Given the description of an element on the screen output the (x, y) to click on. 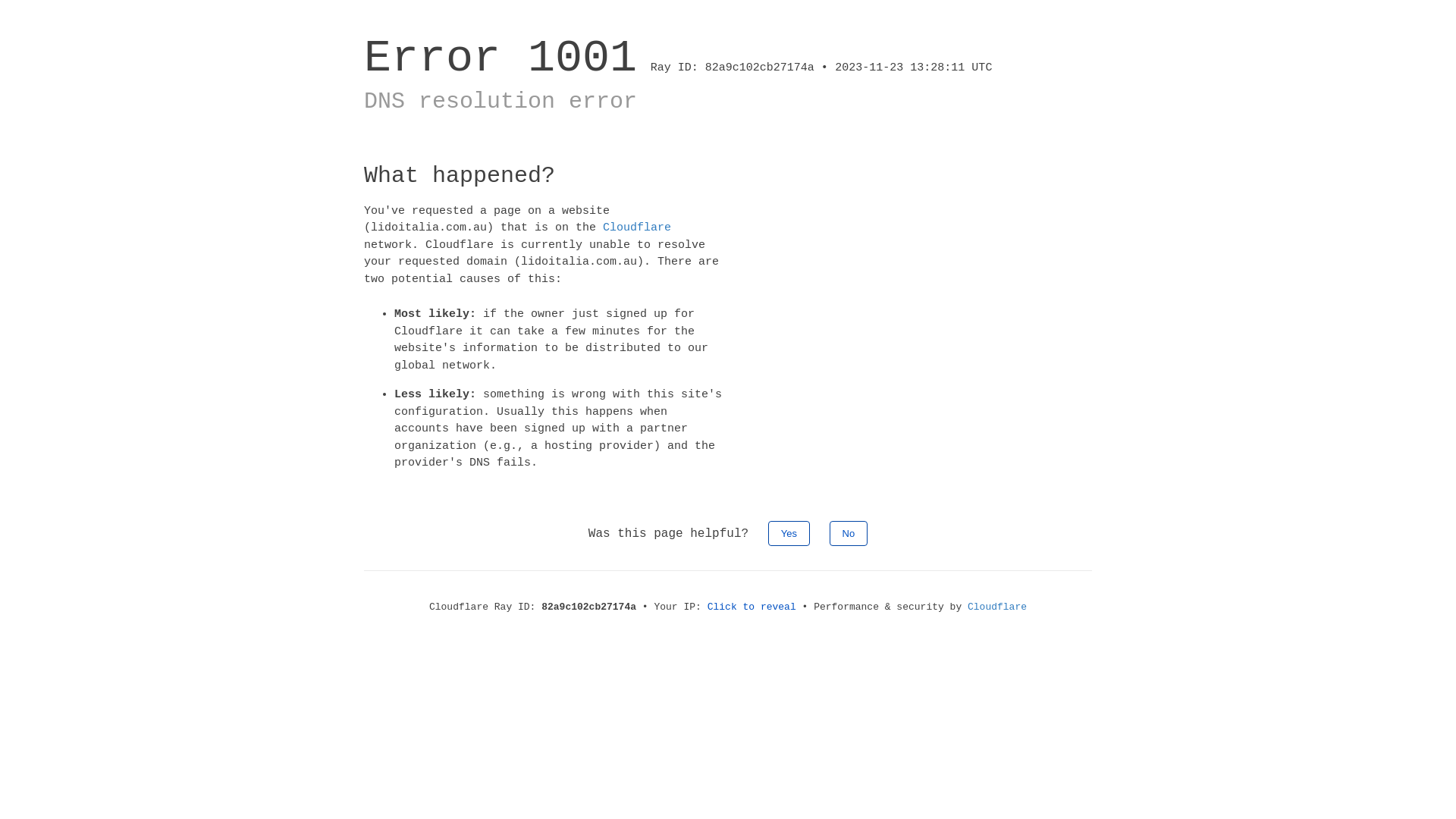
Cloudflare Element type: text (996, 605)
Click to reveal Element type: text (751, 605)
Cloudflare Element type: text (636, 227)
Yes Element type: text (788, 532)
No Element type: text (848, 532)
